Given the description of an element on the screen output the (x, y) to click on. 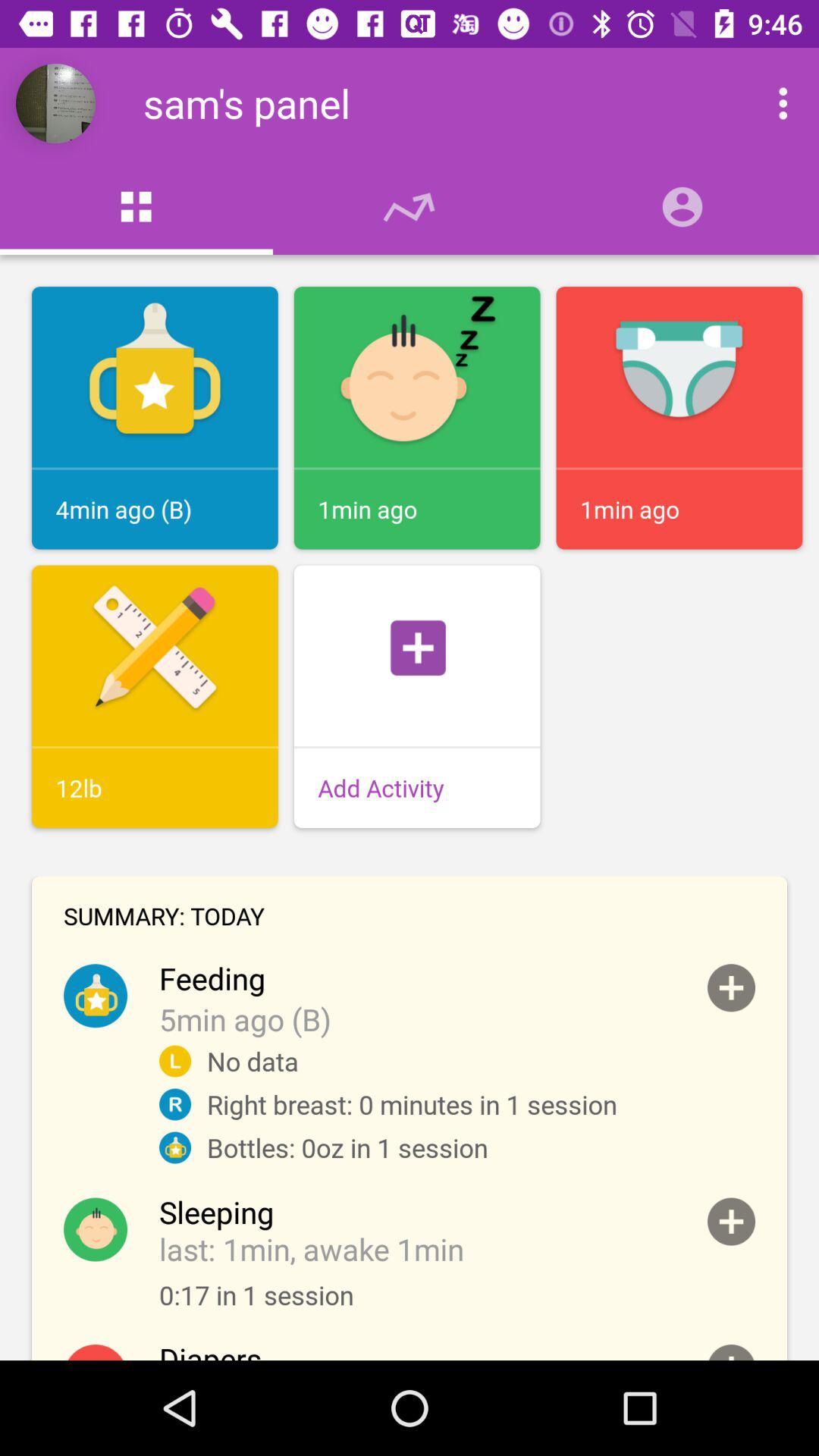
add to the summary (731, 1352)
